Given the description of an element on the screen output the (x, y) to click on. 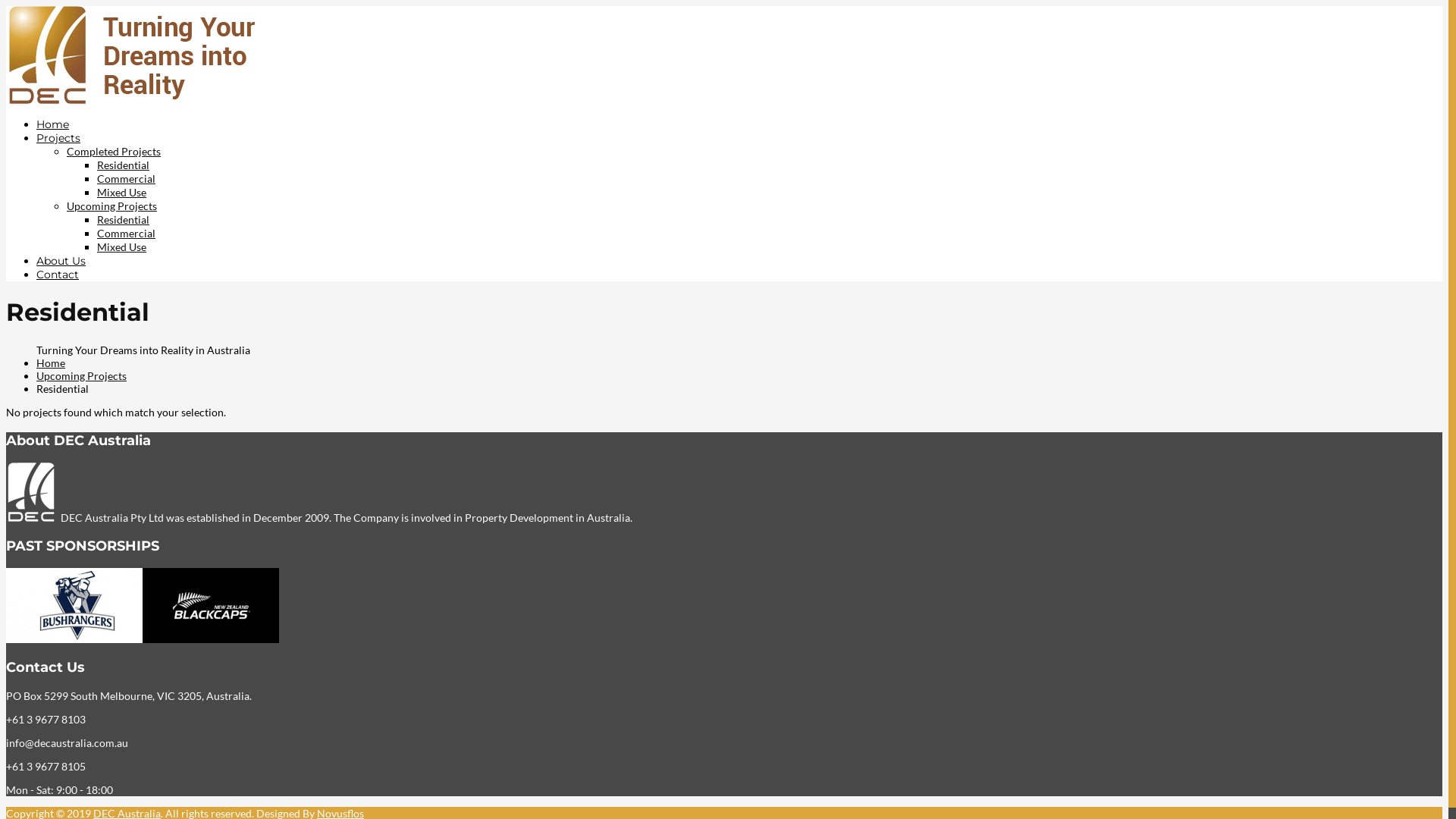
Upcoming Projects Element type: text (81, 375)
Contact Element type: text (57, 274)
Completed Projects Element type: text (113, 150)
About Us Element type: text (60, 260)
Projects Element type: text (58, 137)
Commercial Element type: text (126, 232)
Commercial Element type: text (126, 178)
Mixed Use Element type: text (121, 191)
Residential Element type: text (123, 164)
Home Element type: text (50, 362)
Residential Element type: text (123, 219)
Home Element type: text (52, 124)
Upcoming Projects Element type: text (111, 205)
Mixed Use Element type: text (121, 246)
